Given the description of an element on the screen output the (x, y) to click on. 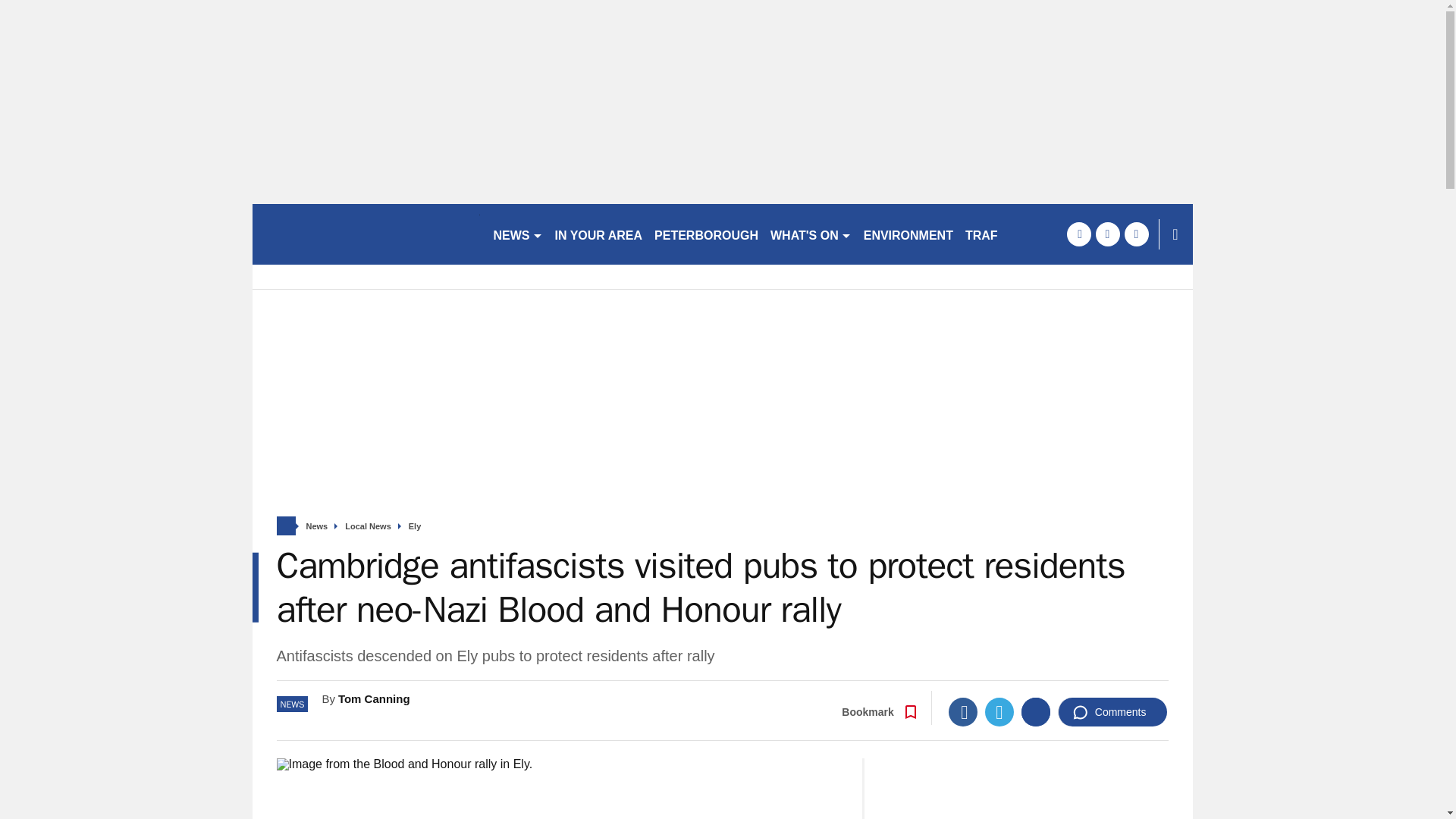
instagram (1136, 233)
PETERBOROUGH (705, 233)
cambridgenews (365, 233)
WHAT'S ON (810, 233)
Comments (1112, 711)
ENVIRONMENT (908, 233)
facebook (1077, 233)
Twitter (999, 711)
NEWS (517, 233)
IN YOUR AREA (598, 233)
Facebook (962, 711)
twitter (1106, 233)
